Given the description of an element on the screen output the (x, y) to click on. 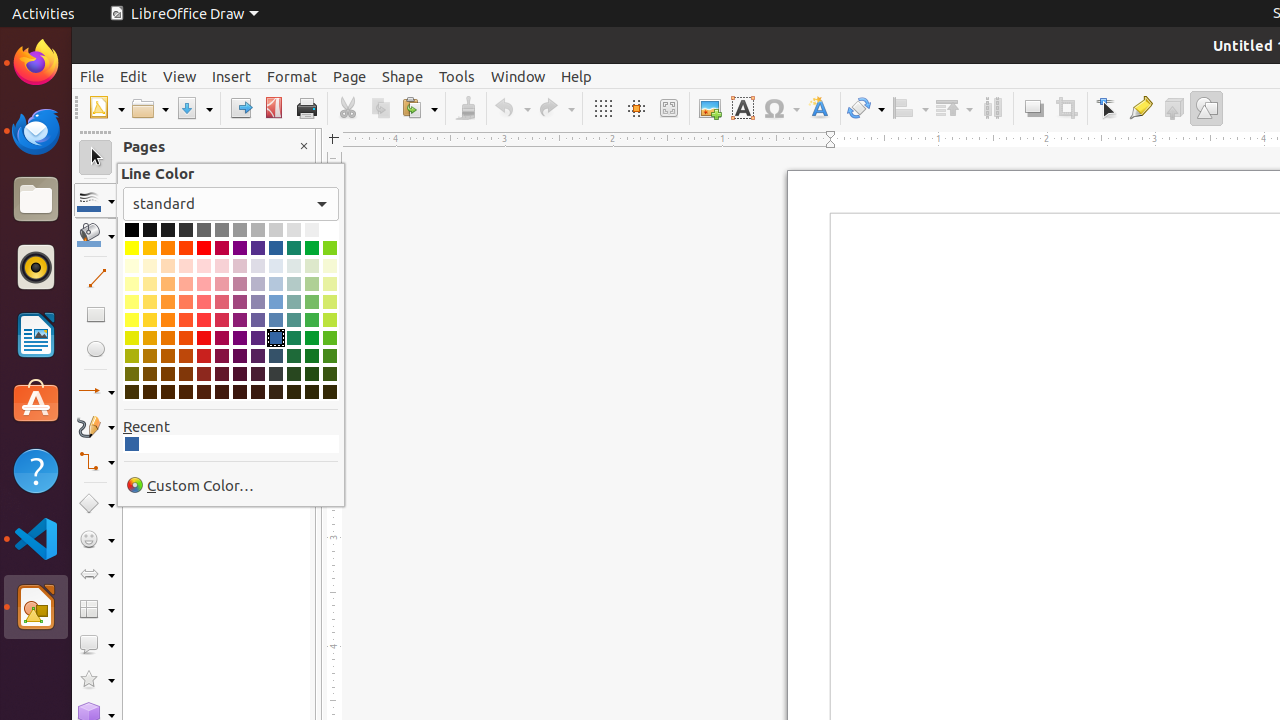
PDF Element type: push-button (273, 108)
Dark Lime 4 Element type: list-item (330, 392)
Symbol Shapes Element type: push-button (96, 539)
Text Box Element type: push-button (742, 108)
Dark Yellow 3 Element type: list-item (132, 374)
